Given the description of an element on the screen output the (x, y) to click on. 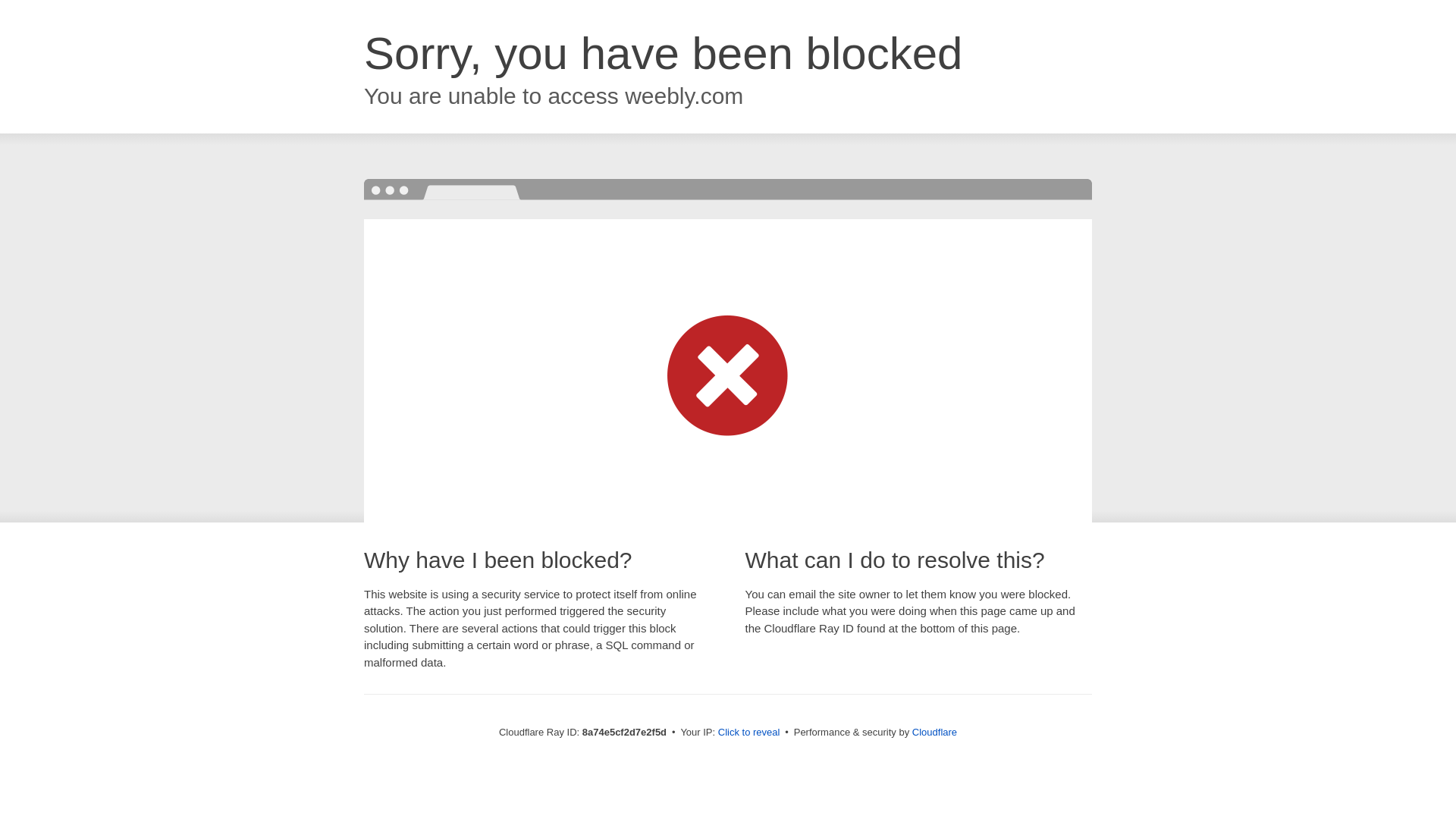
Click to reveal (748, 732)
Cloudflare (934, 731)
